Given the description of an element on the screen output the (x, y) to click on. 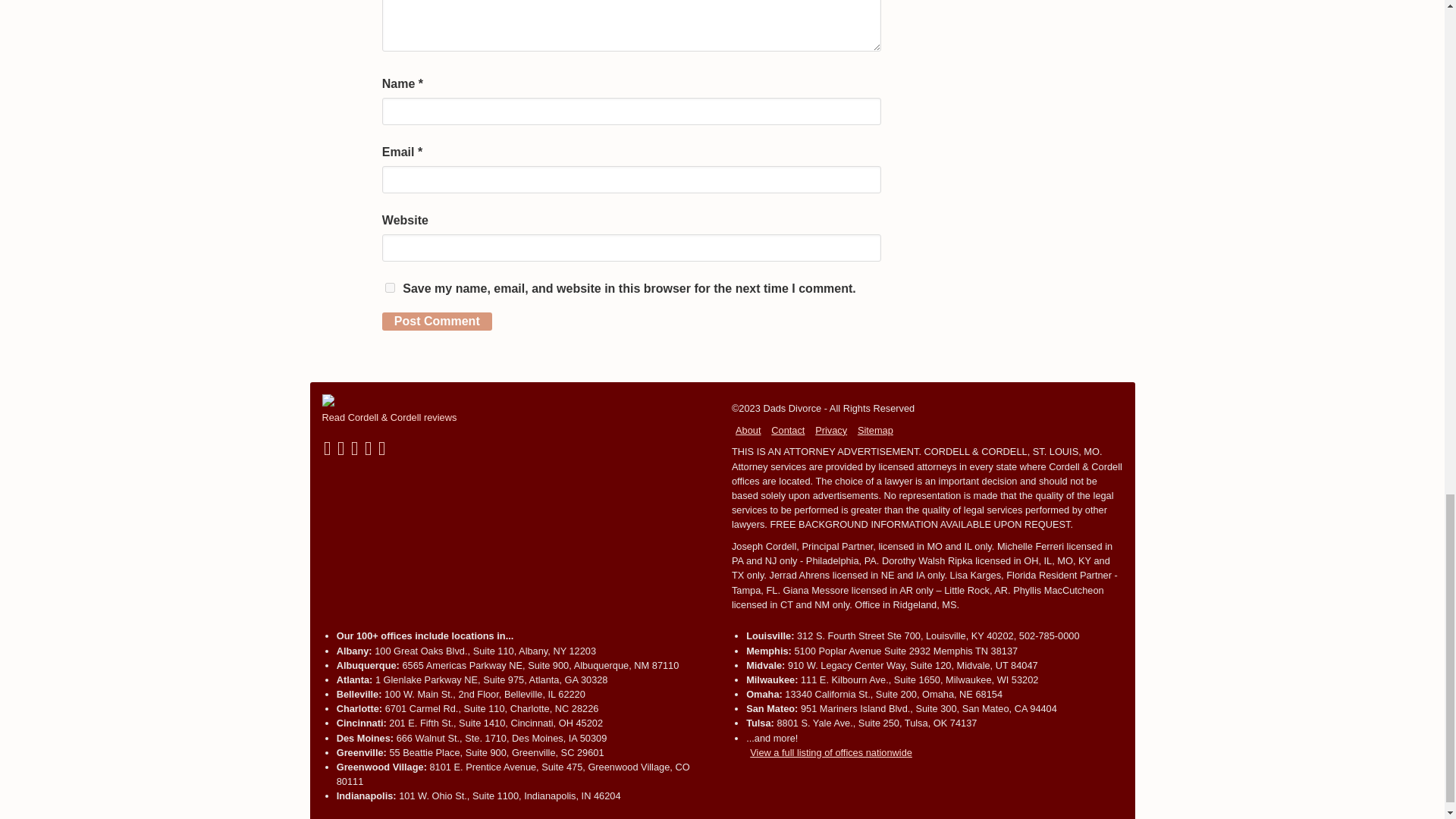
Post Comment (436, 321)
yes (389, 287)
Post Comment (436, 321)
